Given the description of an element on the screen output the (x, y) to click on. 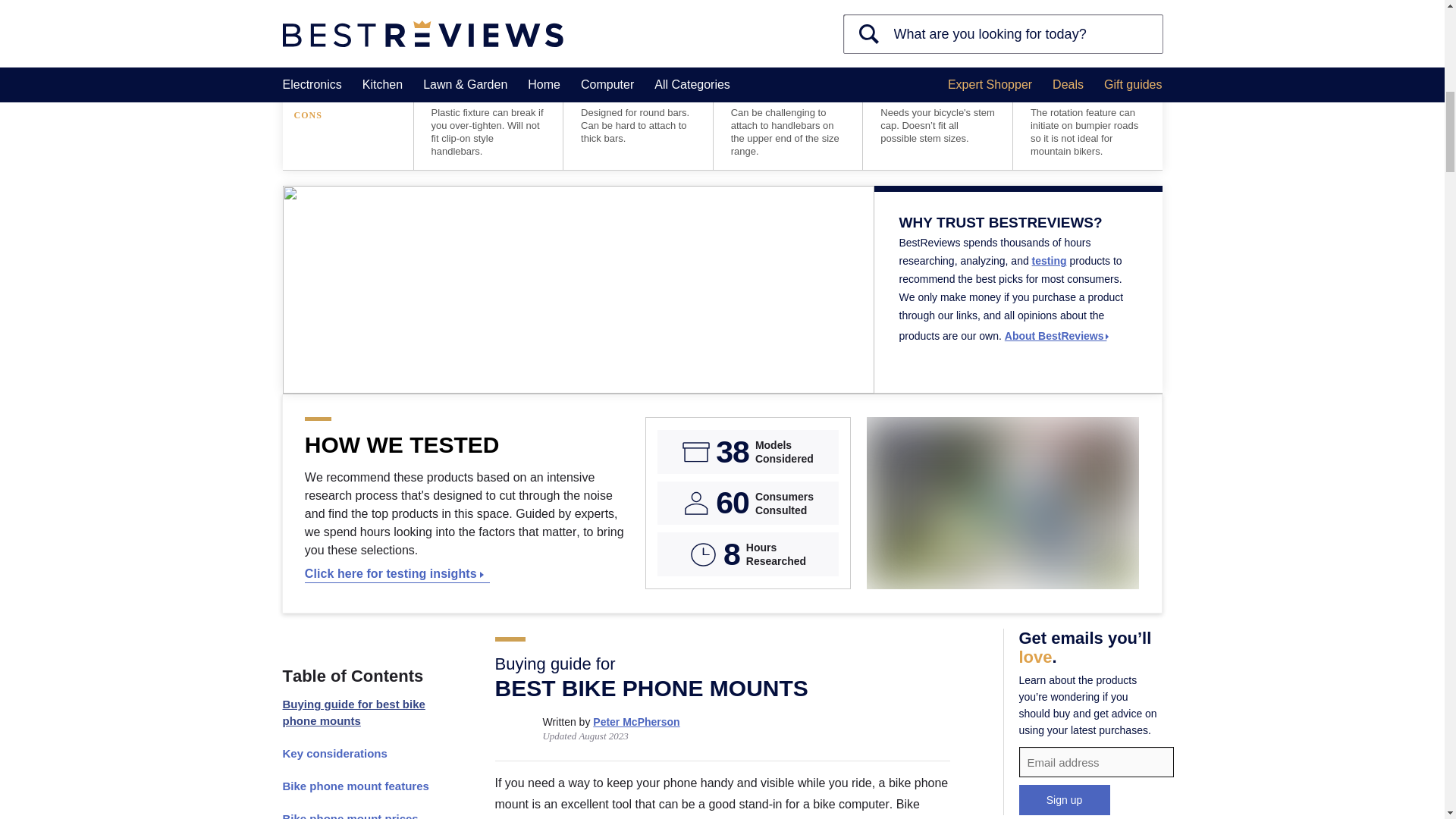
About BestReviews   (1056, 336)
testing (1049, 260)
Subscribe email (1096, 761)
Bike phone mount features (361, 786)
Key considerations (361, 753)
Buying guide for best bike phone mounts (361, 712)
Peter McPherson (635, 721)
Bike phone mount prices (361, 812)
